Given the description of an element on the screen output the (x, y) to click on. 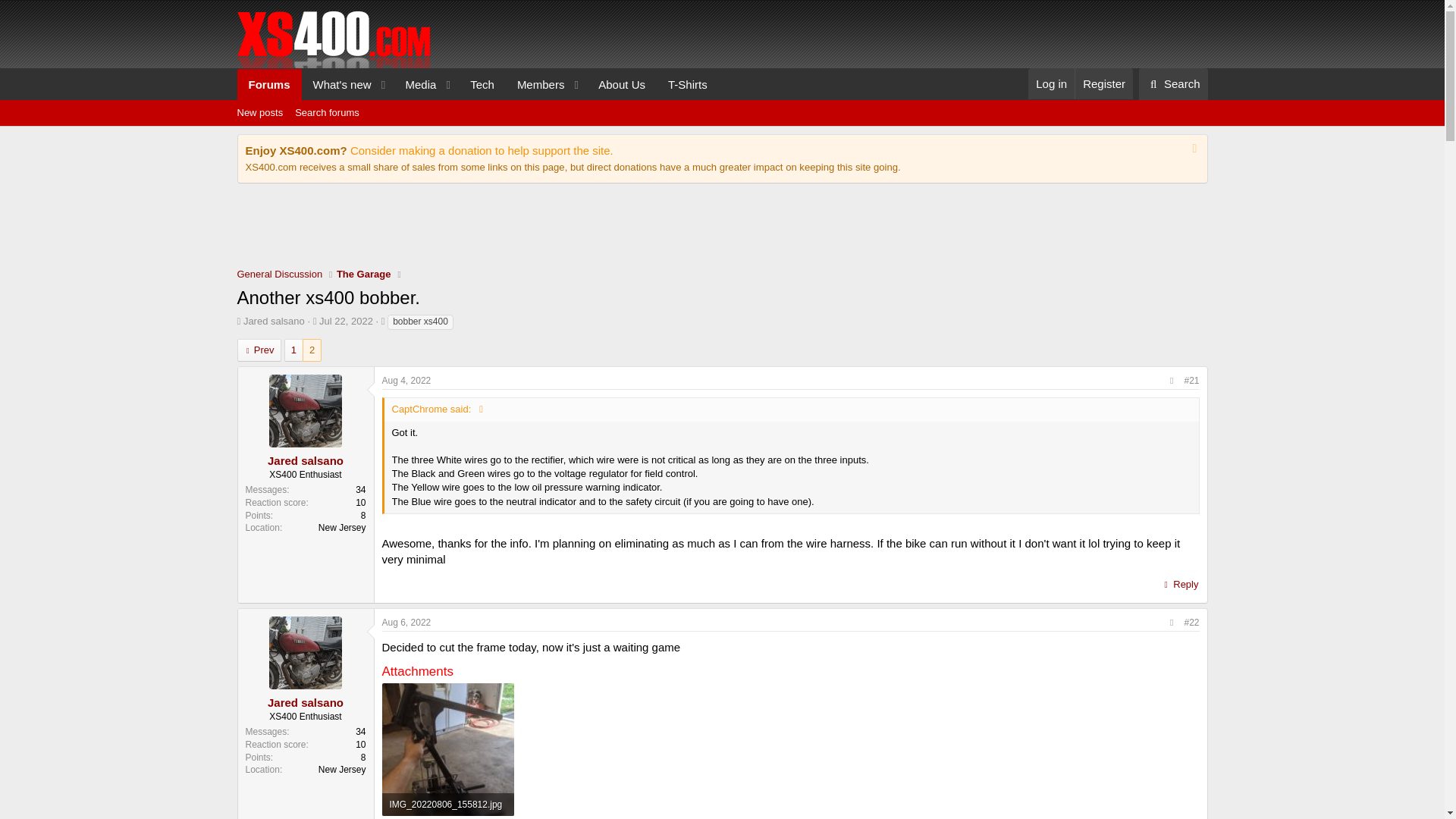
Search forums (326, 112)
Aug 4, 2022 at 6:34 PM (721, 129)
Log in (405, 380)
Forums (1050, 83)
Members (268, 83)
About Us (535, 83)
Jul 22, 2022 at 5:17 PM (621, 83)
Consider making a donation to help support the site. (345, 320)
Reply, quoting this message (481, 150)
